Given the description of an element on the screen output the (x, y) to click on. 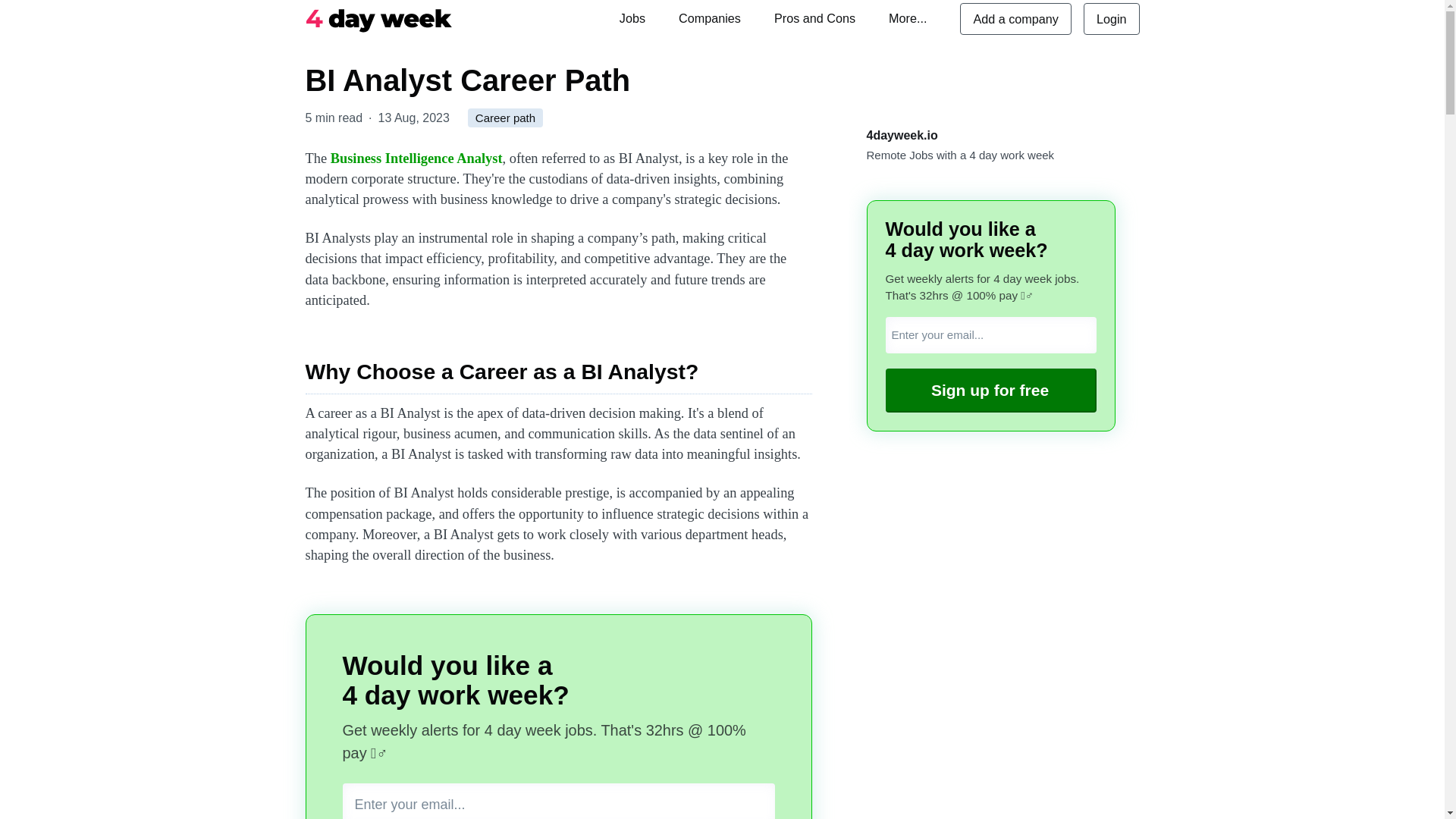
Pros and Cons (814, 18)
More... (907, 18)
Companies (709, 18)
Jobs (632, 18)
